Given the description of an element on the screen output the (x, y) to click on. 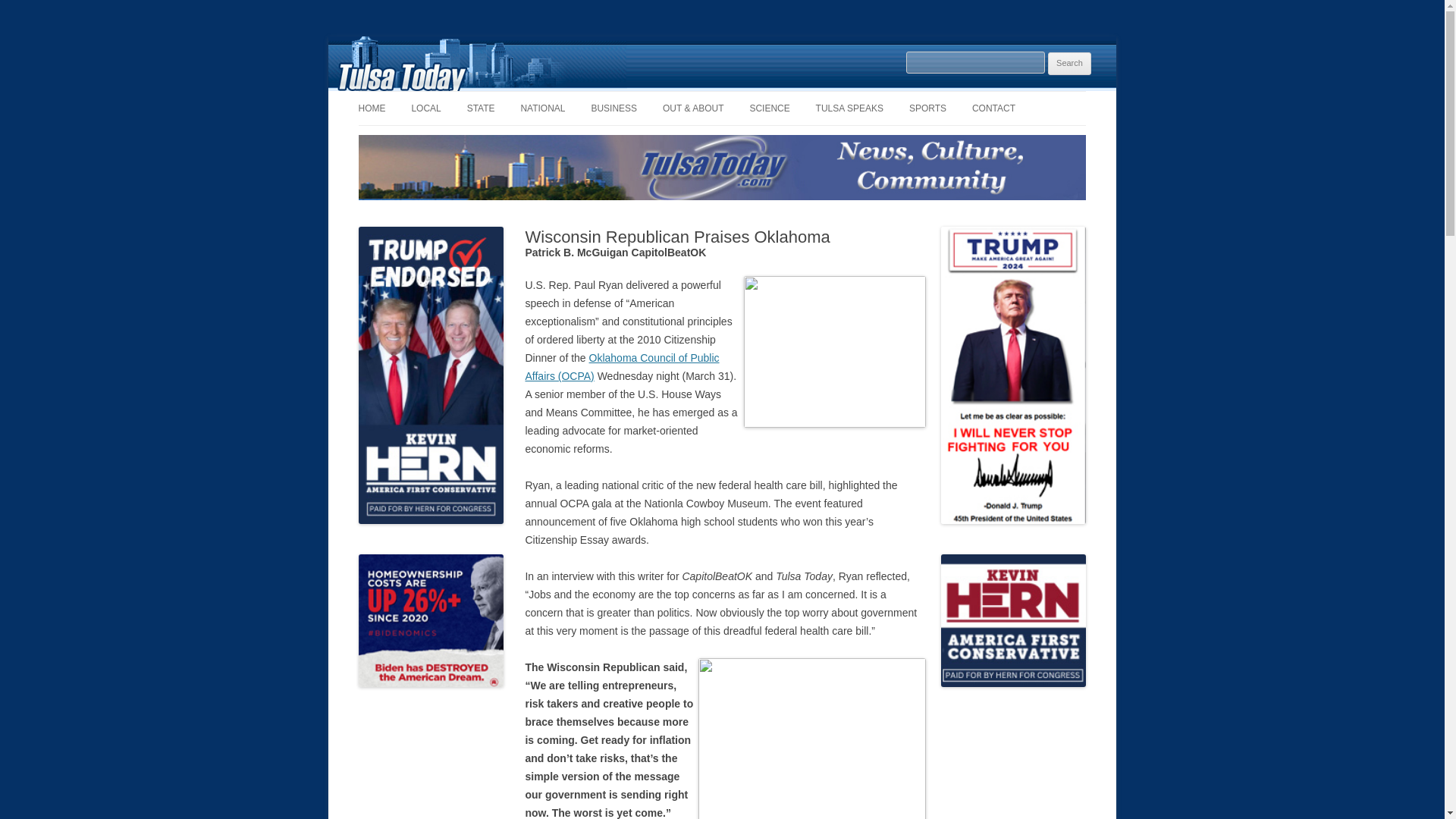
Search (1069, 63)
BUSINESS (614, 108)
CONTACT (993, 108)
TULSA SPEAKS (849, 108)
NATIONAL (541, 108)
STATE (481, 108)
LOCAL (425, 108)
HOME (371, 108)
SCIENCE (769, 108)
Search (1069, 63)
SPORTS (927, 108)
Skip to content (757, 95)
Skip to content (757, 95)
